Given the description of an element on the screen output the (x, y) to click on. 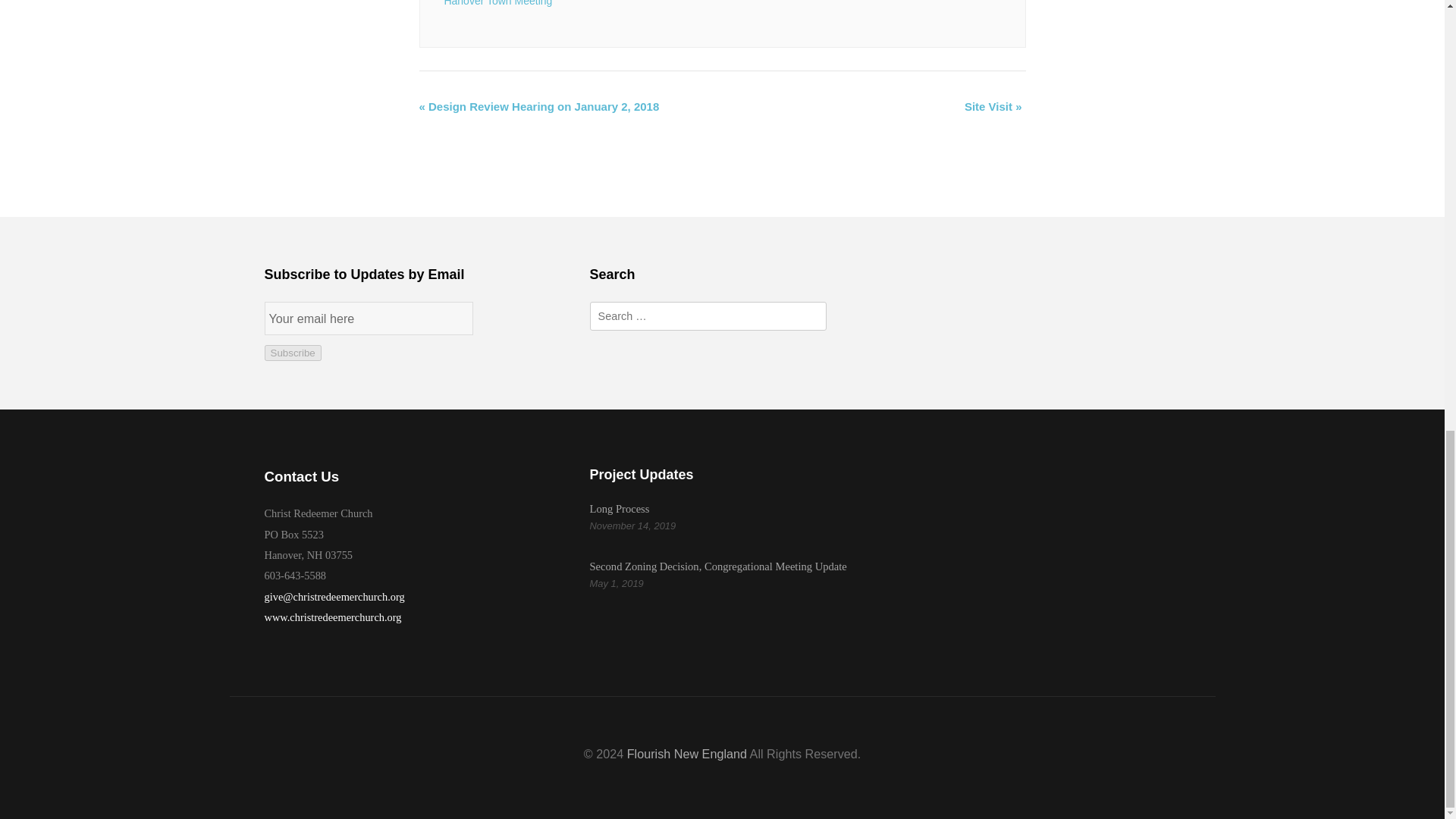
Second Zoning Decision, Congregational Meeting Update (718, 566)
Flourish New England (686, 753)
Long Process (619, 508)
Hanover Town Meeting (497, 3)
Contact Us (301, 476)
www.christredeemerchurch.org (332, 616)
Subscribe (291, 352)
Long Process (619, 508)
Second Zoning Decision, Congregational Meeting Update (718, 566)
Your email here (368, 318)
Your email here (368, 318)
